Given the description of an element on the screen output the (x, y) to click on. 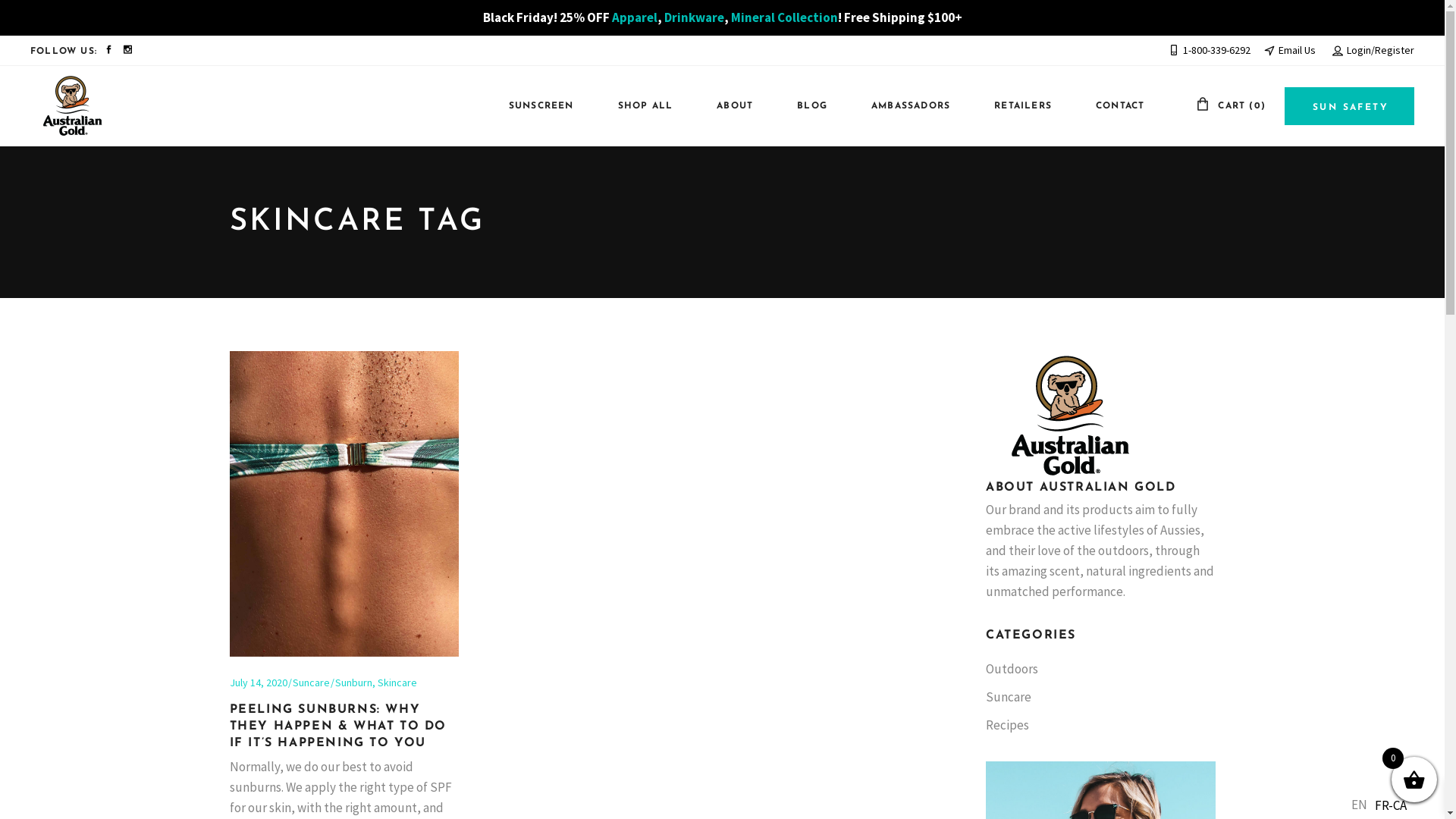
BLOG Element type: text (804, 106)
Email Us Element type: text (1289, 49)
Drinkware Element type: text (694, 17)
CONTACT Element type: text (1112, 106)
Suncare Element type: text (310, 682)
July 14, 2020 Element type: text (257, 682)
RETAILERS Element type: text (1015, 106)
1-800-339-6292 Element type: text (1209, 49)
AMBASSADORS Element type: text (902, 106)
Outdoors Element type: text (1011, 668)
SUNSCREEN Element type: text (533, 106)
SUN SAFETY Element type: text (1349, 106)
FR-CA Element type: text (1390, 805)
Login/Register Element type: text (1373, 49)
CART (0) Element type: text (1230, 105)
ABOUT Element type: text (727, 106)
Apparel Element type: text (633, 17)
Sunburn Element type: text (353, 682)
Suncare Element type: text (1008, 696)
Mineral Collection Element type: text (784, 17)
Skincare Element type: text (397, 682)
Recipes Element type: text (1007, 724)
SHOP ALL Element type: text (637, 106)
